Given the description of an element on the screen output the (x, y) to click on. 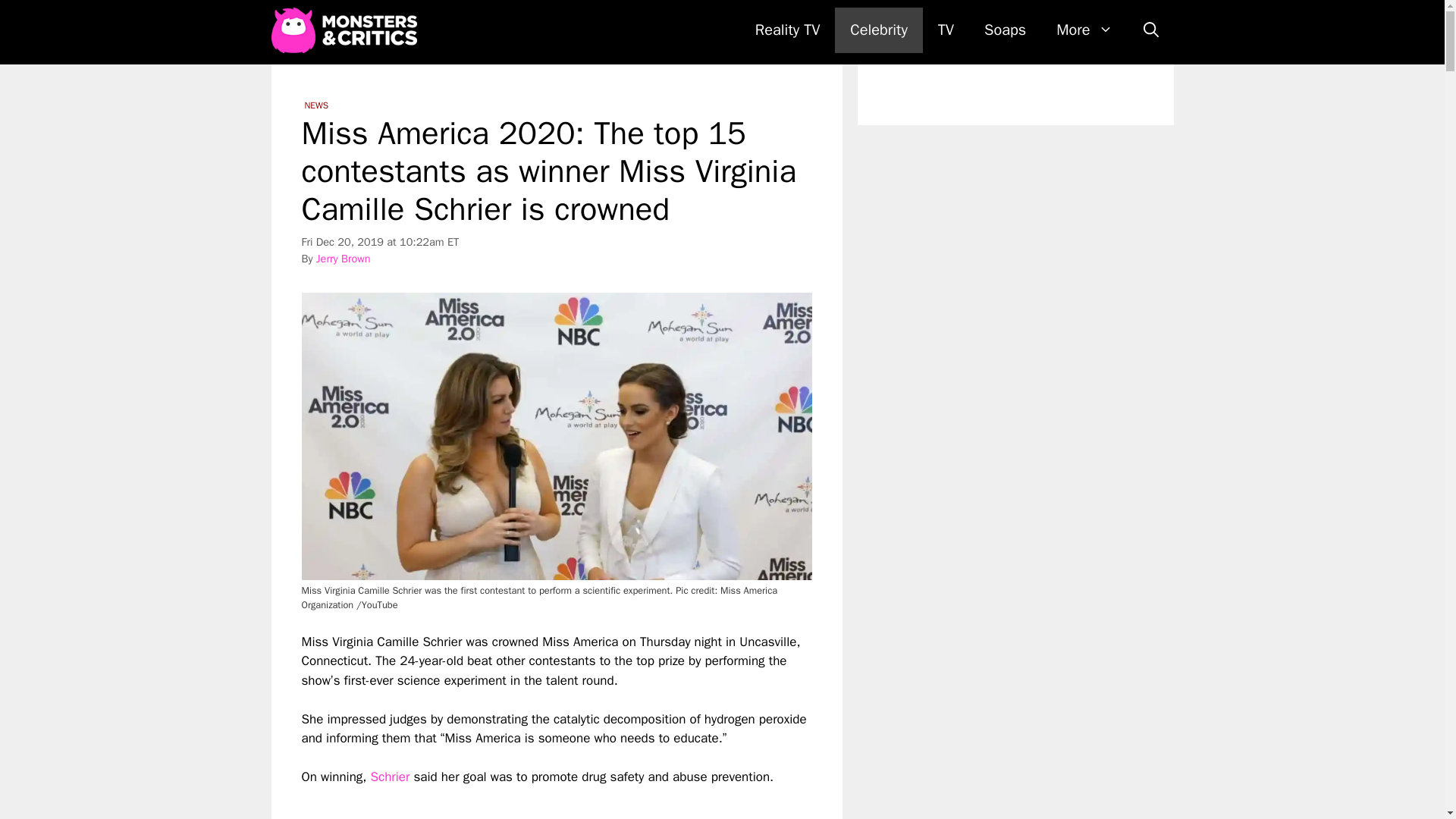
View all posts by Jerry Brown (343, 258)
TV (946, 30)
Soaps (1005, 30)
Monsters and Critics (347, 30)
YouTube video player (513, 803)
Schrier (389, 776)
More (1083, 30)
Reality TV (787, 30)
Jerry Brown (343, 258)
Monsters and Critics (343, 30)
